Given the description of an element on the screen output the (x, y) to click on. 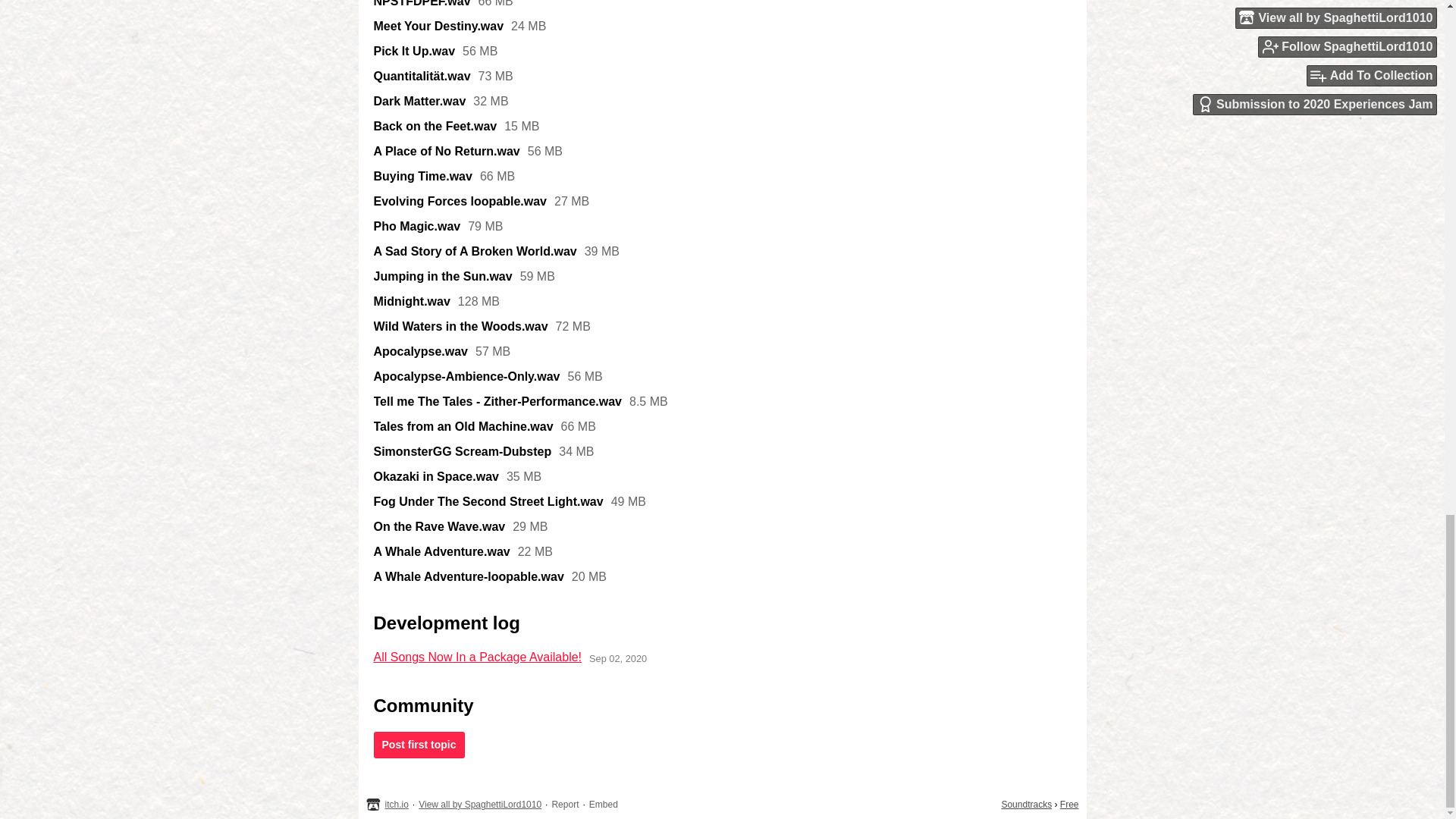
Report (564, 804)
itch.io (397, 804)
All Songs Now In a Package Available! (476, 657)
Embed (603, 804)
Soundtracks (1026, 804)
Free (1068, 804)
Post first topic (418, 745)
View all by SpaghettiLord1010 (480, 804)
